Given the description of an element on the screen output the (x, y) to click on. 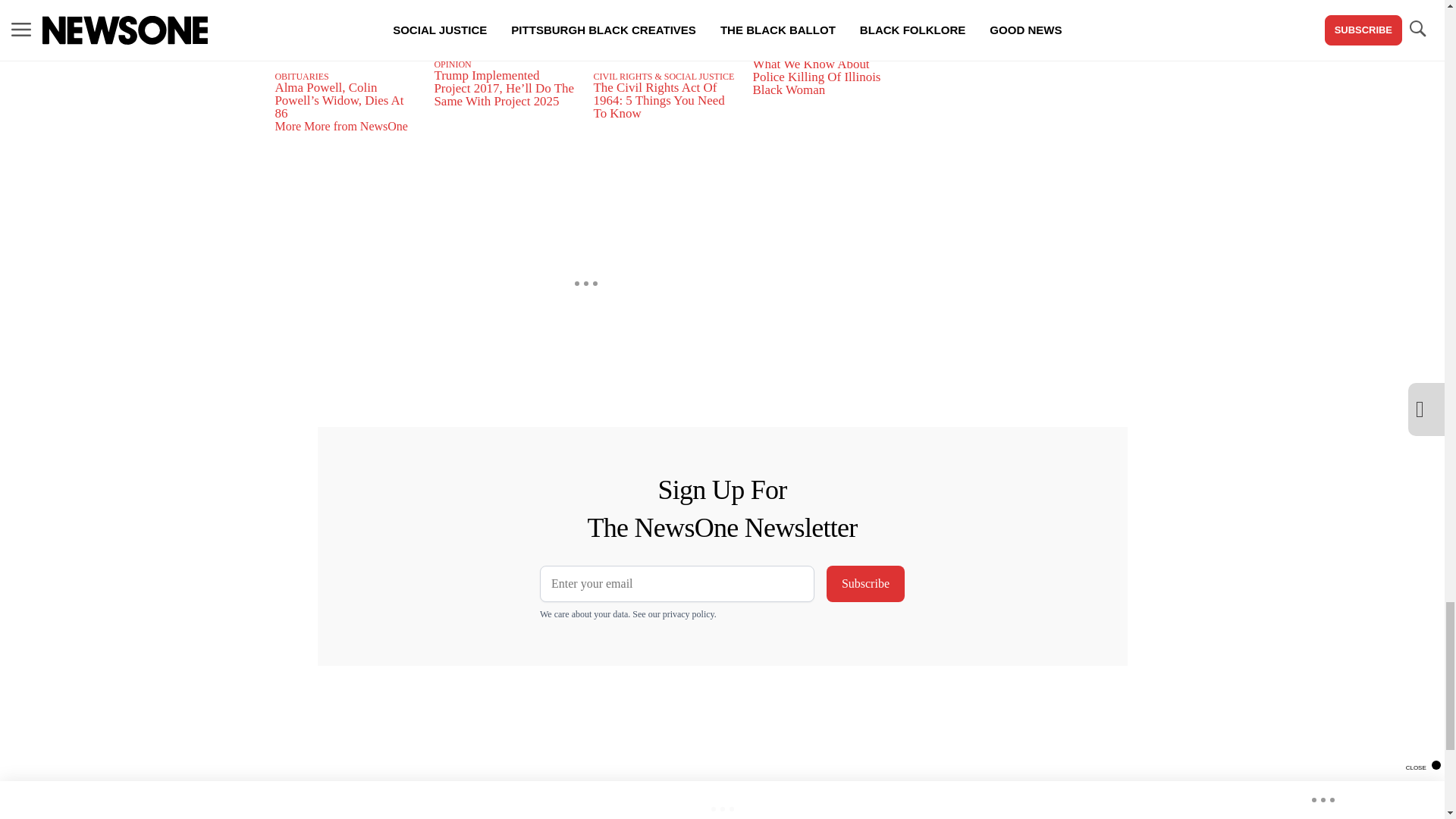
Media Playlist (346, 36)
